Given the description of an element on the screen output the (x, y) to click on. 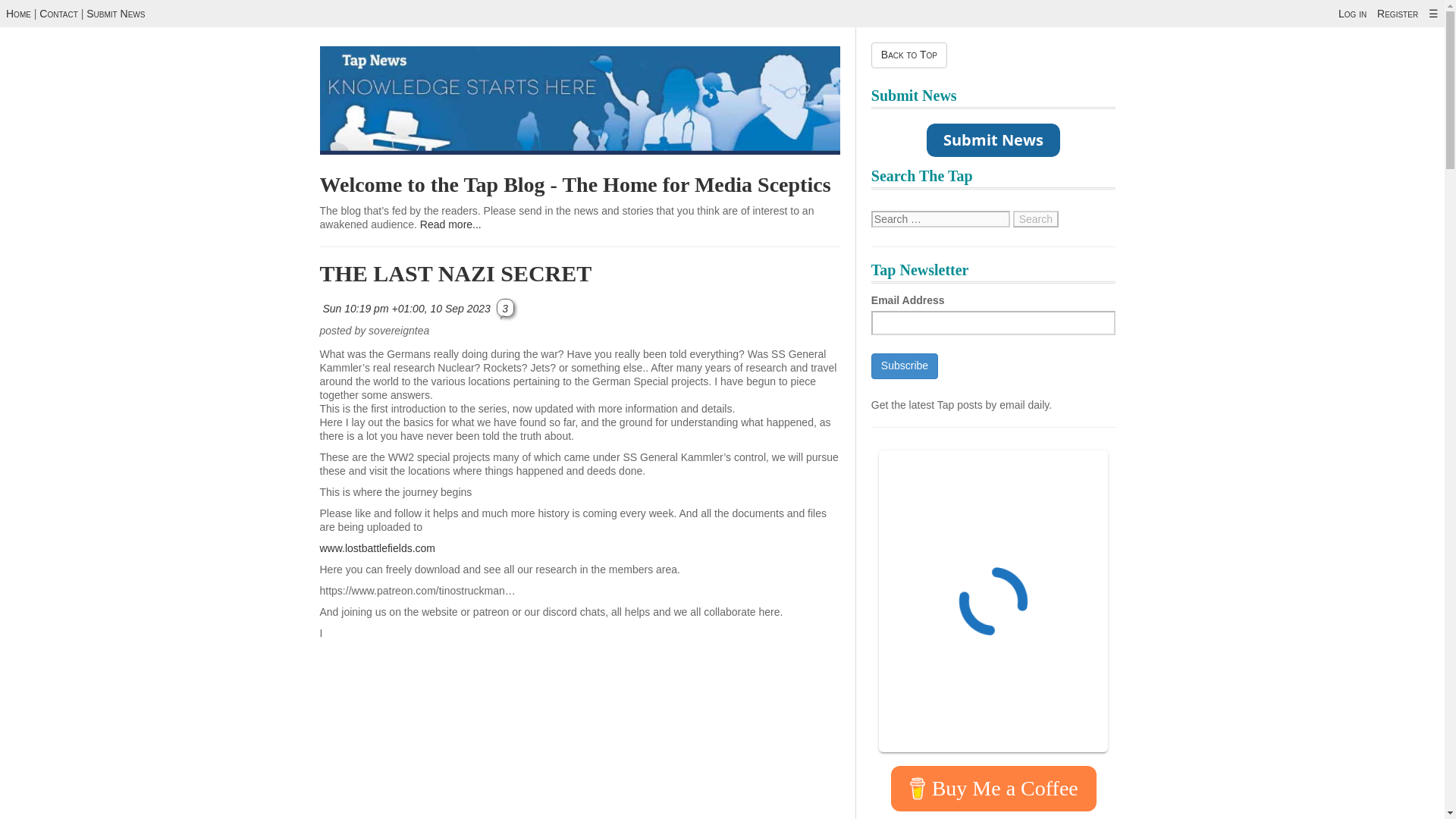
Register (1397, 13)
Search (1035, 218)
THE LAST NAZI SECRET (456, 273)
Back to Top (908, 54)
Back to Top (908, 54)
Log in (1352, 13)
3 (504, 307)
Permanent Link to THE LAST NAZI SECRET (407, 308)
Contact (58, 13)
Permanent Link to THE LAST NAZI SECRET (456, 273)
